Given the description of an element on the screen output the (x, y) to click on. 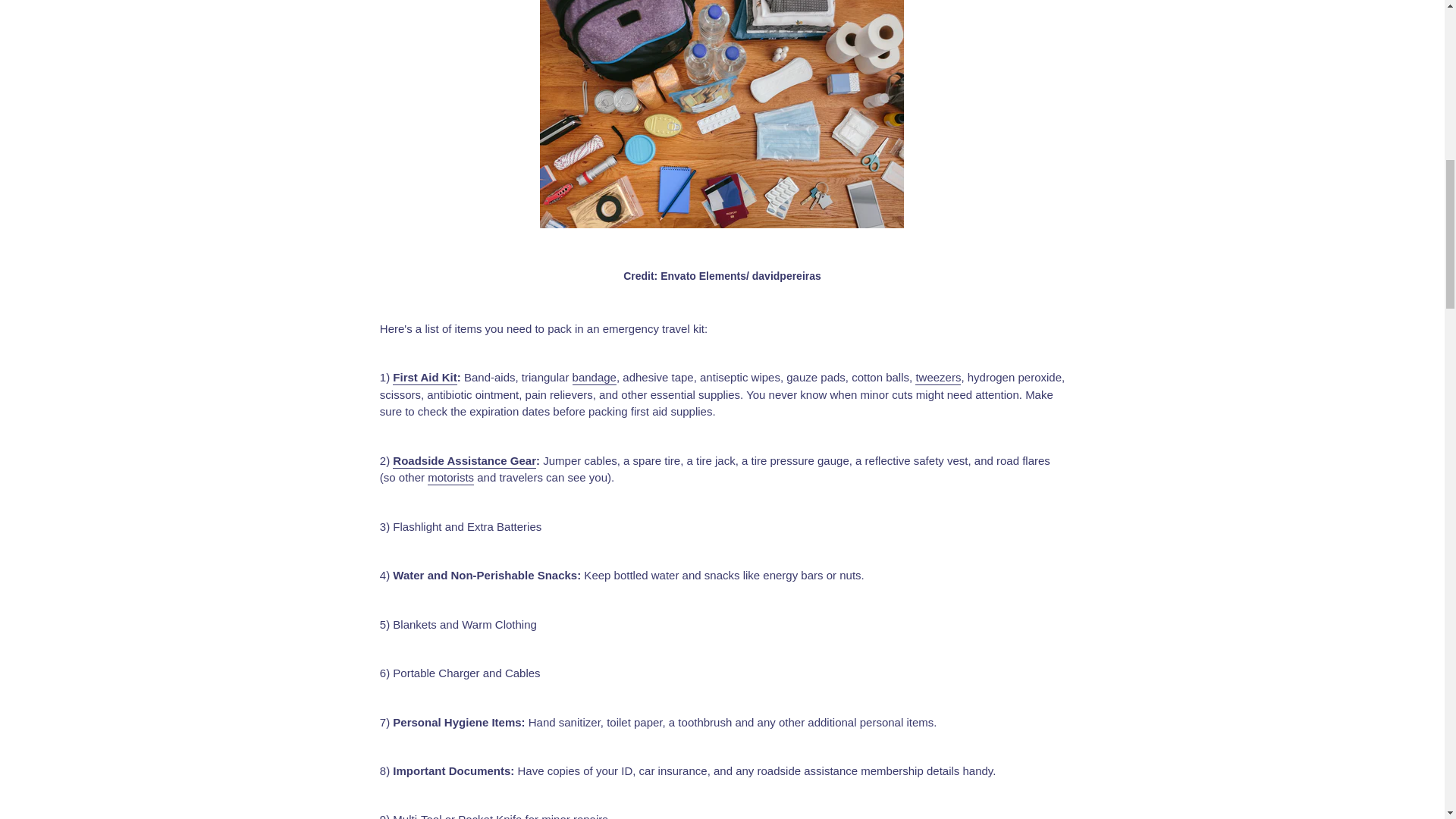
motorists (451, 477)
bandage (593, 377)
tweezers (937, 377)
Roadside Assistance Gear (464, 461)
First Aid Kit (425, 377)
